Given the description of an element on the screen output the (x, y) to click on. 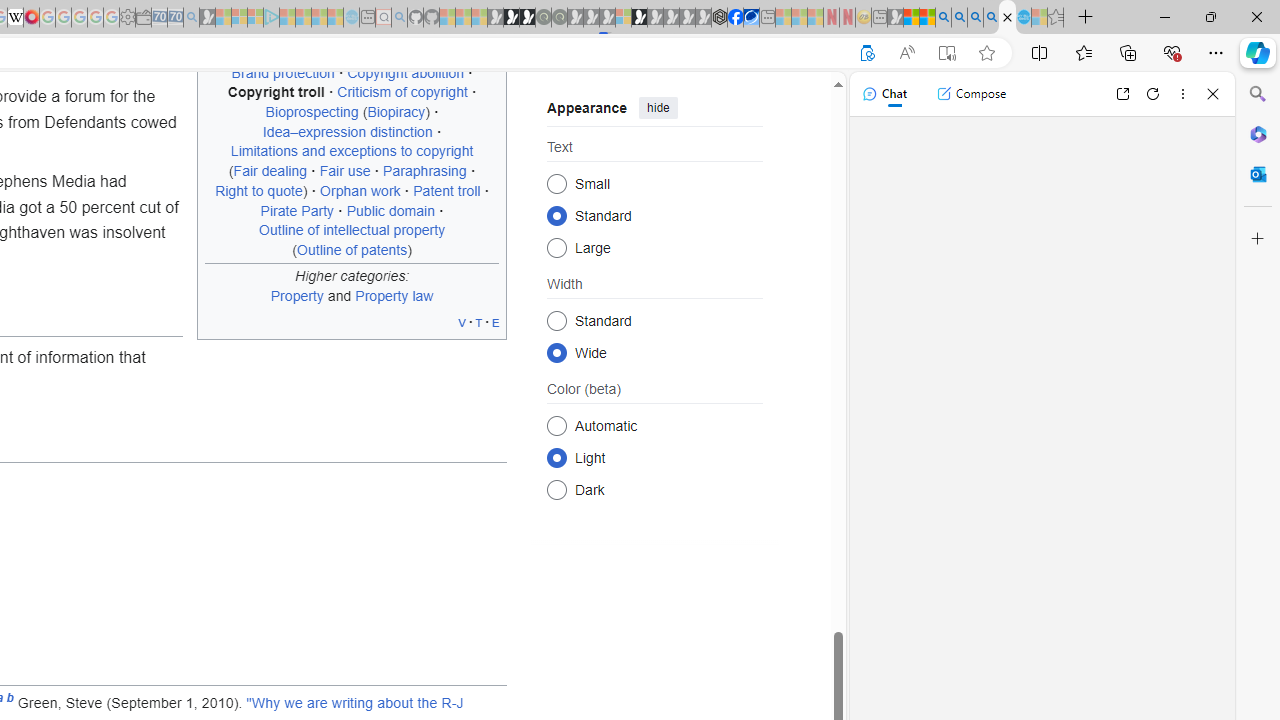
Bing Real Estate - Home sales and rental listings - Sleeping (191, 17)
(Outline of patents) (352, 249)
Criticism of copyright (402, 92)
Chat (884, 93)
Cheap Car Rentals - Save70.com - Sleeping (175, 17)
Close Customize pane (1258, 239)
Outline of intellectual property (351, 230)
v (462, 322)
